Given the description of an element on the screen output the (x, y) to click on. 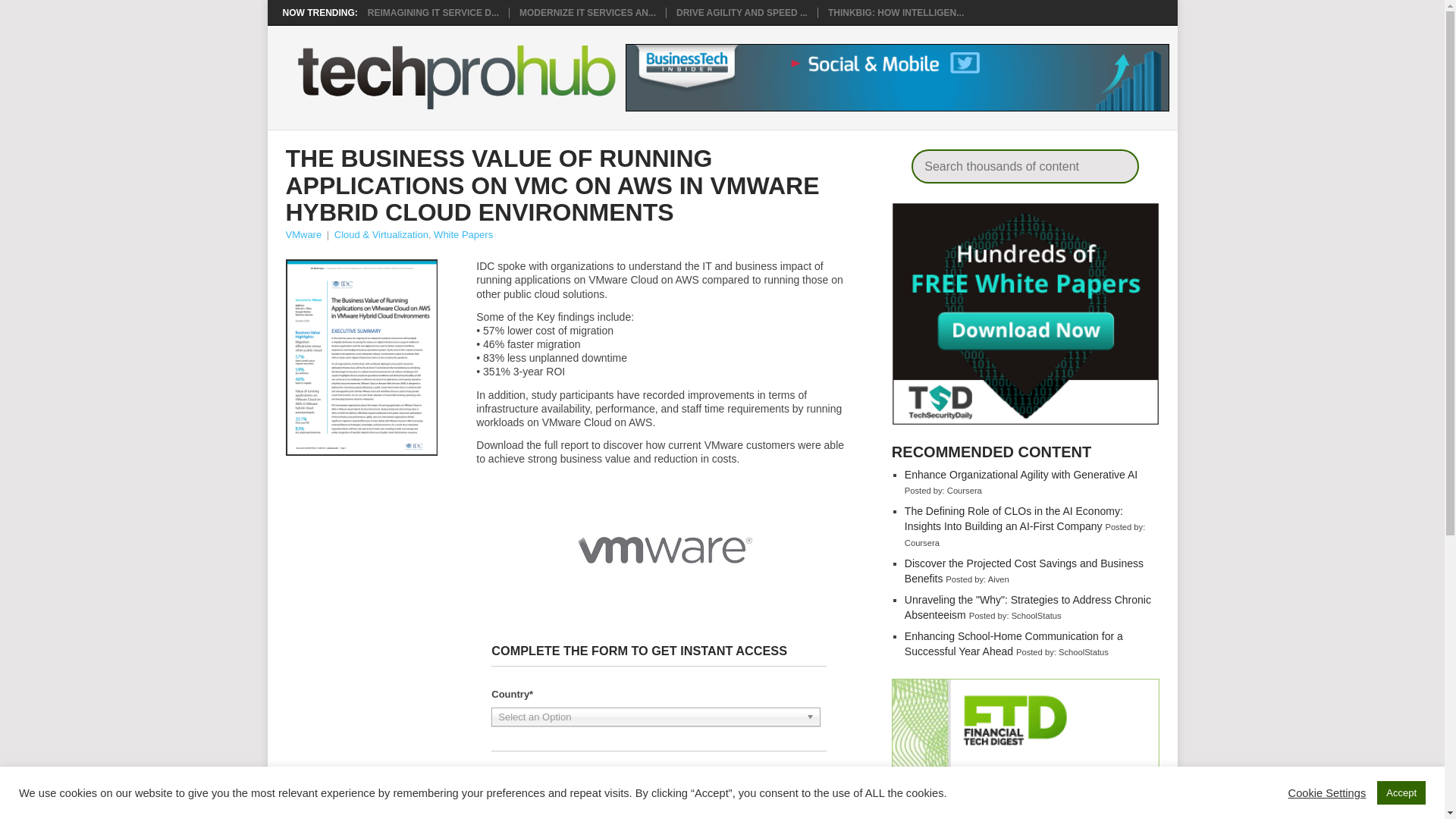
THINKBIG: HOW INTELLIGEN... (895, 12)
Discover the Projected Cost Savings and Business Benefits (1023, 570)
Drive Agility and Speed at Scale (742, 12)
White Papers (463, 234)
DRIVE AGILITY AND SPEED ... (742, 12)
VMware (303, 234)
MODERNIZE IT SERVICES AN... (587, 12)
Search (1116, 165)
Enhance Organizational Agility with Generative AI (1020, 474)
Modernize IT services and Operations with AI (587, 12)
Accept (1401, 792)
Posts by VMware (303, 234)
